Given the description of an element on the screen output the (x, y) to click on. 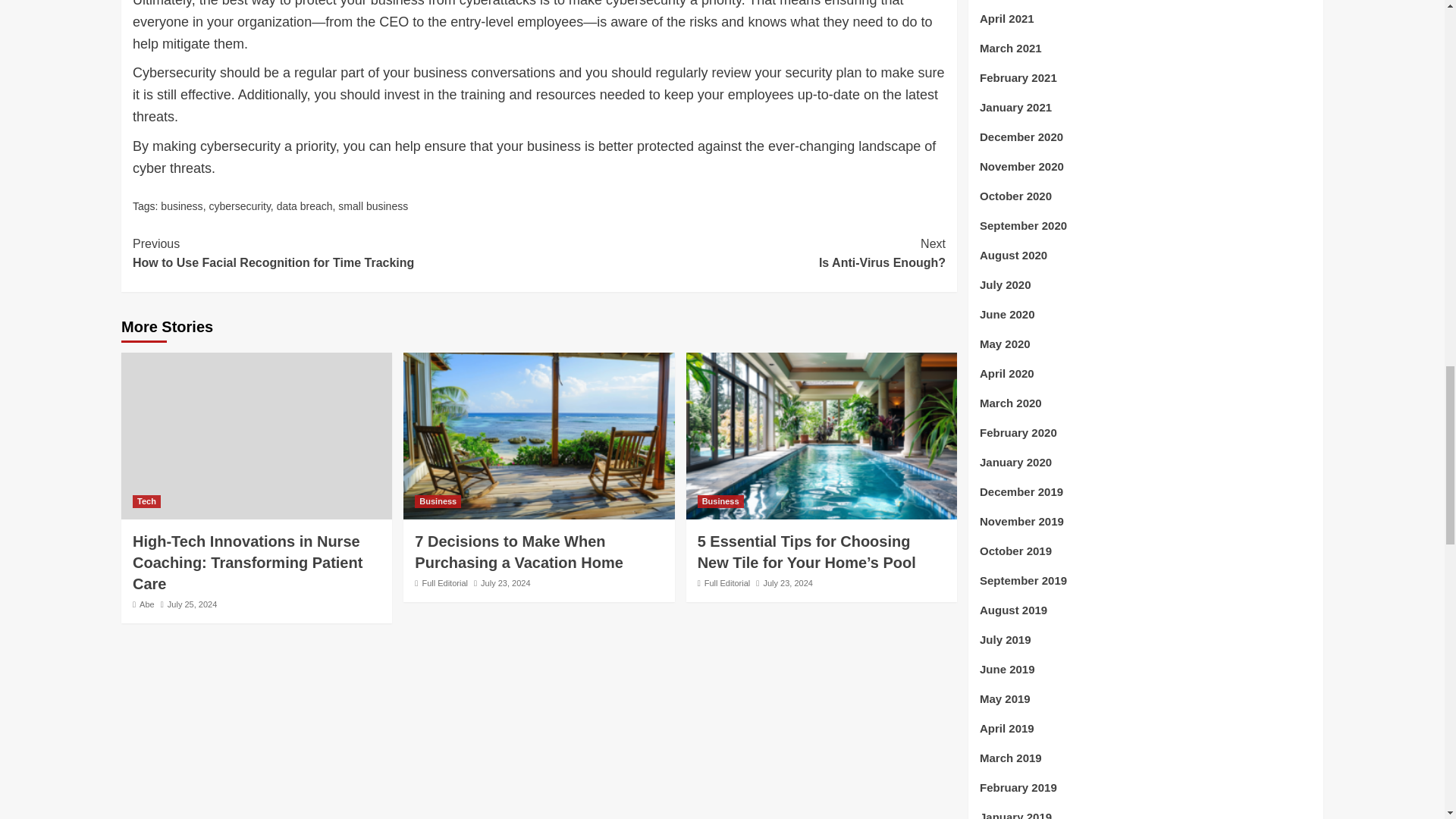
cybersecurity (238, 205)
Full Editorial (444, 583)
Business (437, 501)
Business (720, 501)
Tech (146, 501)
Abe (146, 604)
7 Decisions to Make When Purchasing a Vacation Home (518, 551)
business (741, 253)
data breach (181, 205)
Full Editorial (304, 205)
small business (727, 583)
July 25, 2024 (335, 253)
